Given the description of an element on the screen output the (x, y) to click on. 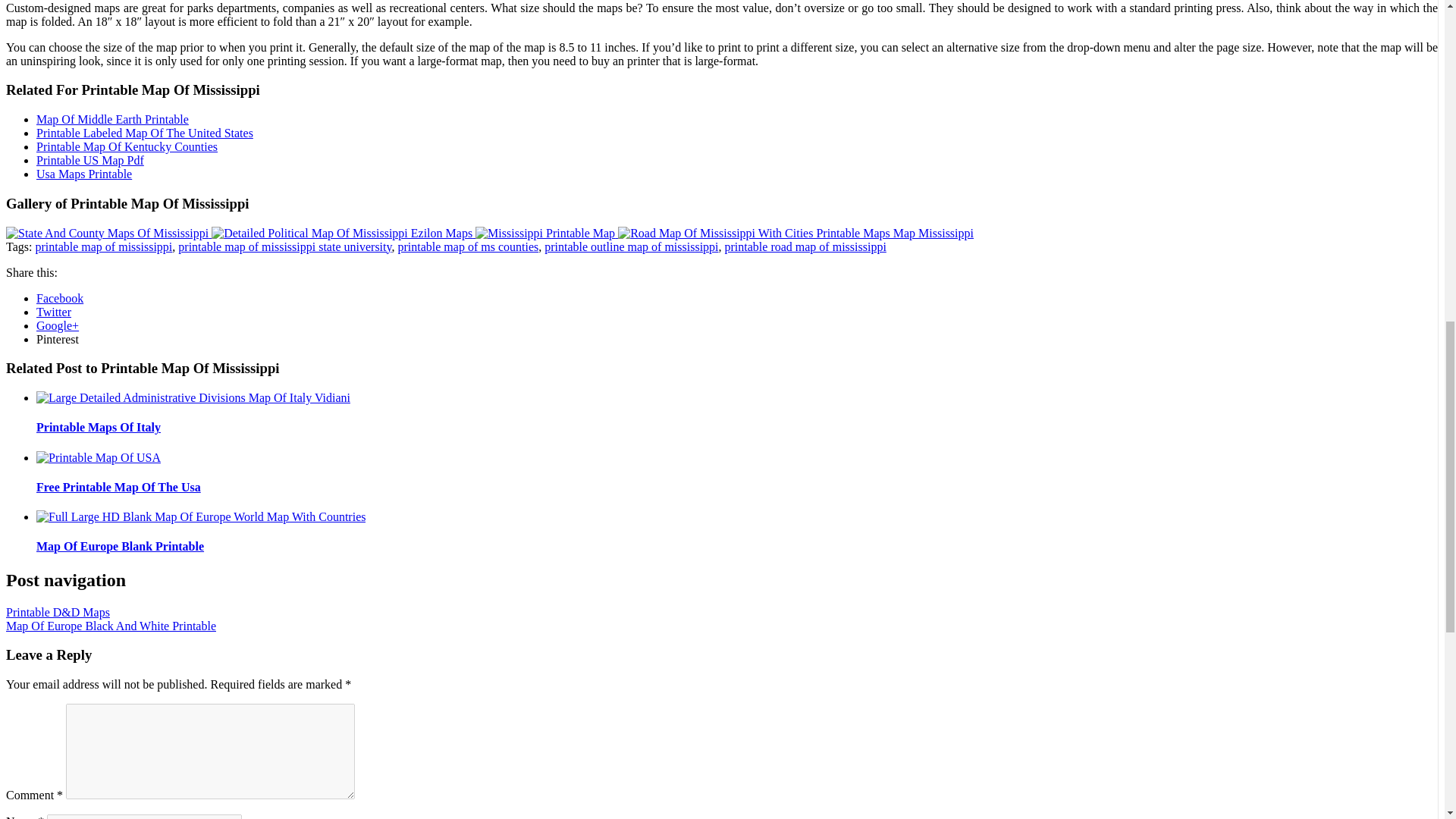
Twitter (53, 311)
State And County Maps Of Mississippi (108, 232)
printable map of mississippi (102, 246)
Printable Map Of Kentucky Counties (126, 146)
printable map of mississippi state university (284, 246)
State And County Maps Of Mississippi (106, 233)
Pinterest (57, 338)
printable outline map of mississippi (630, 246)
Map Of Middle Earth Printable (112, 119)
Printable Labeled Map Of The United States (144, 132)
